Given the description of an element on the screen output the (x, y) to click on. 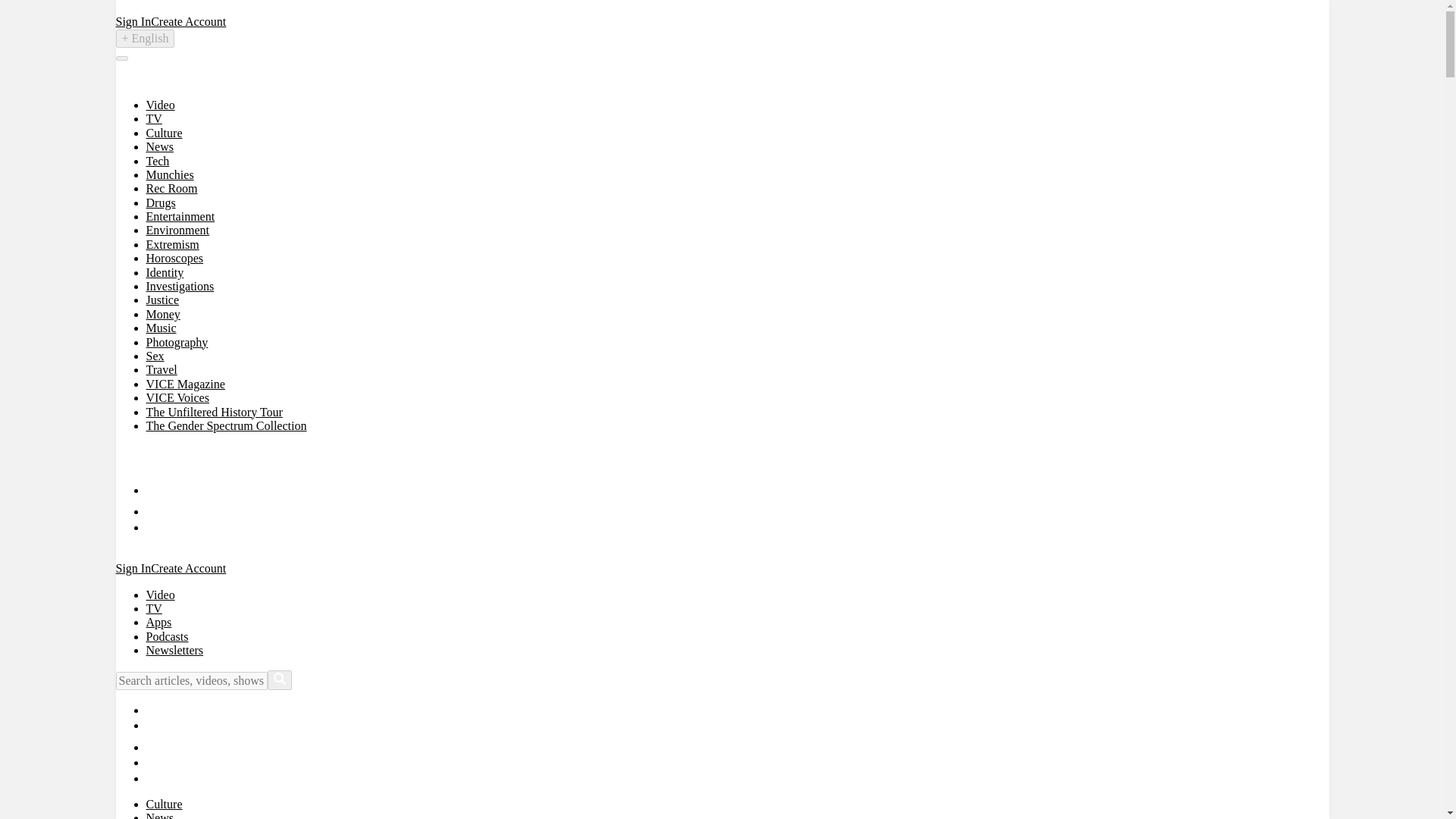
The Unfiltered History Tour (213, 411)
VICE (149, 78)
Rec Room (170, 187)
VICE (149, 461)
Extremism (171, 244)
Photography (176, 341)
Sex (154, 355)
Music (160, 327)
Video (159, 104)
Travel (160, 369)
TV (153, 118)
Investigations (179, 286)
Entertainment (179, 215)
Apps (158, 621)
VICE (149, 455)
